Given the description of an element on the screen output the (x, y) to click on. 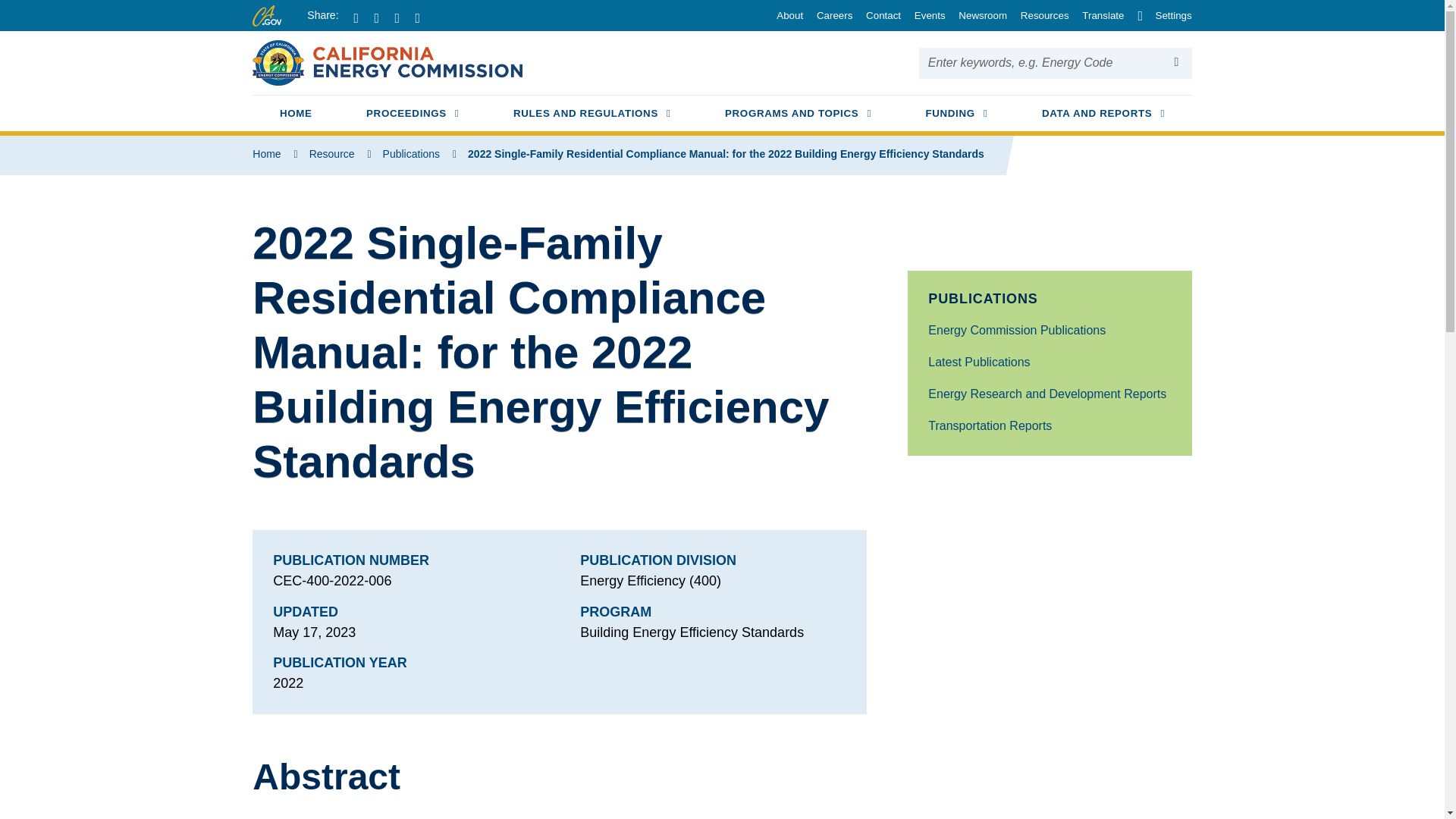
Share via LinkedIn (403, 18)
Contact (878, 15)
Newsroom (978, 15)
Events (924, 15)
HOME (591, 115)
Translate (295, 115)
SEARCH (1097, 15)
Share via Twitter (1176, 62)
Resources (382, 18)
About (1039, 15)
Share via Email (785, 15)
California Energy Commission (423, 18)
Settings (412, 115)
